Given the description of an element on the screen output the (x, y) to click on. 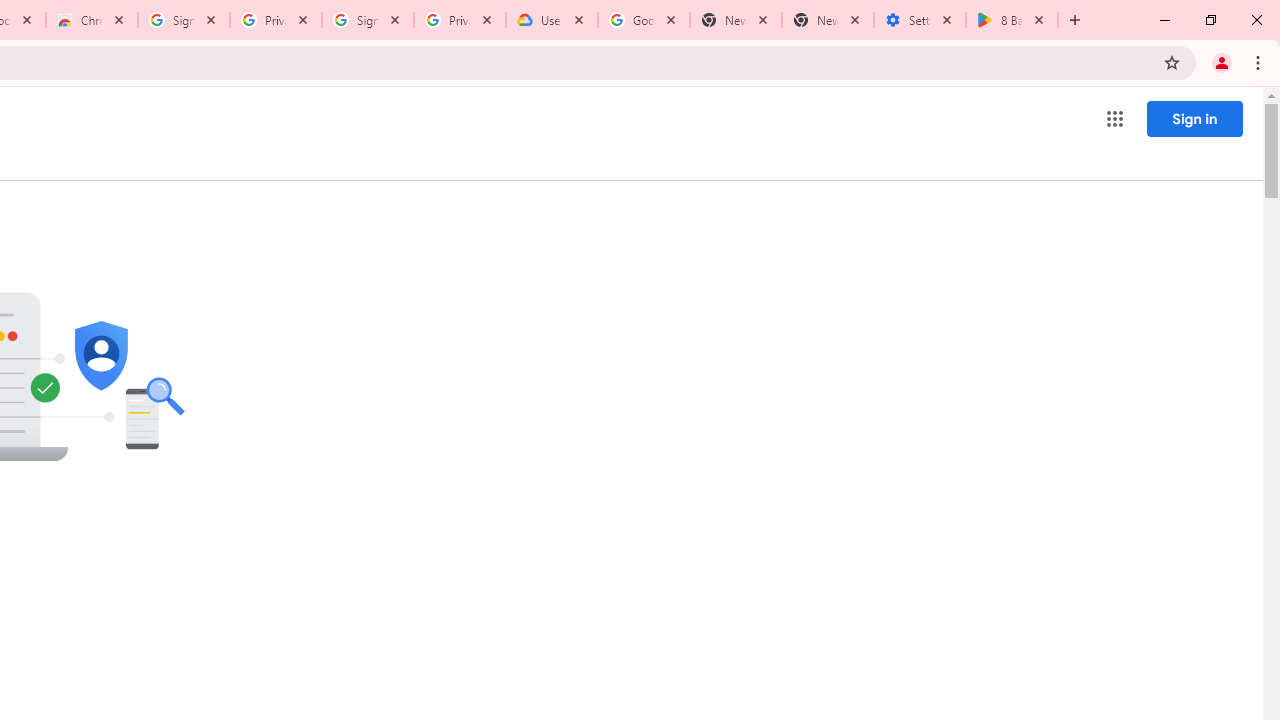
Sign in - Google Accounts (184, 20)
New Tab (828, 20)
